Given the description of an element on the screen output the (x, y) to click on. 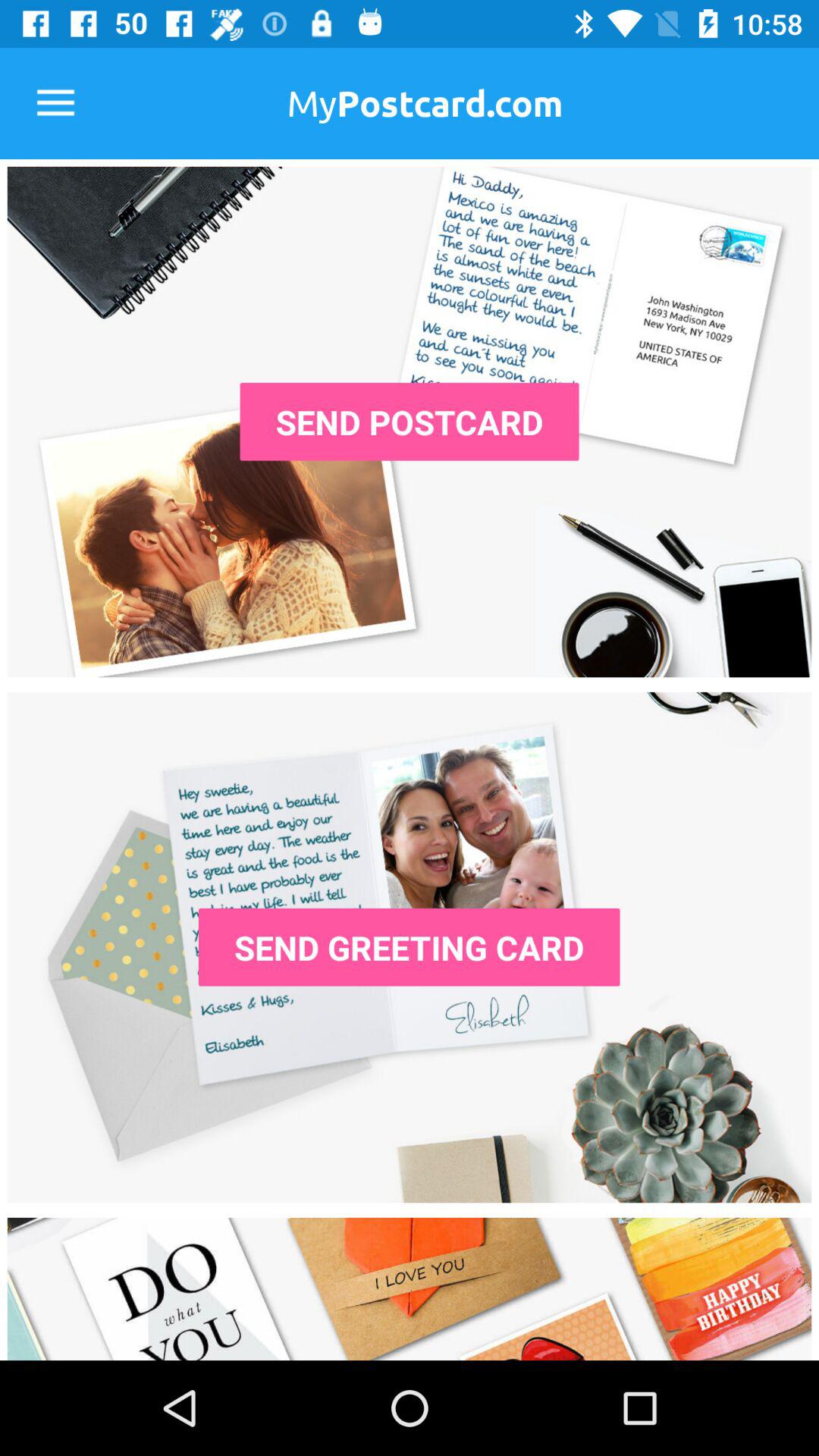
flip to send postcard item (409, 421)
